Given the description of an element on the screen output the (x, y) to click on. 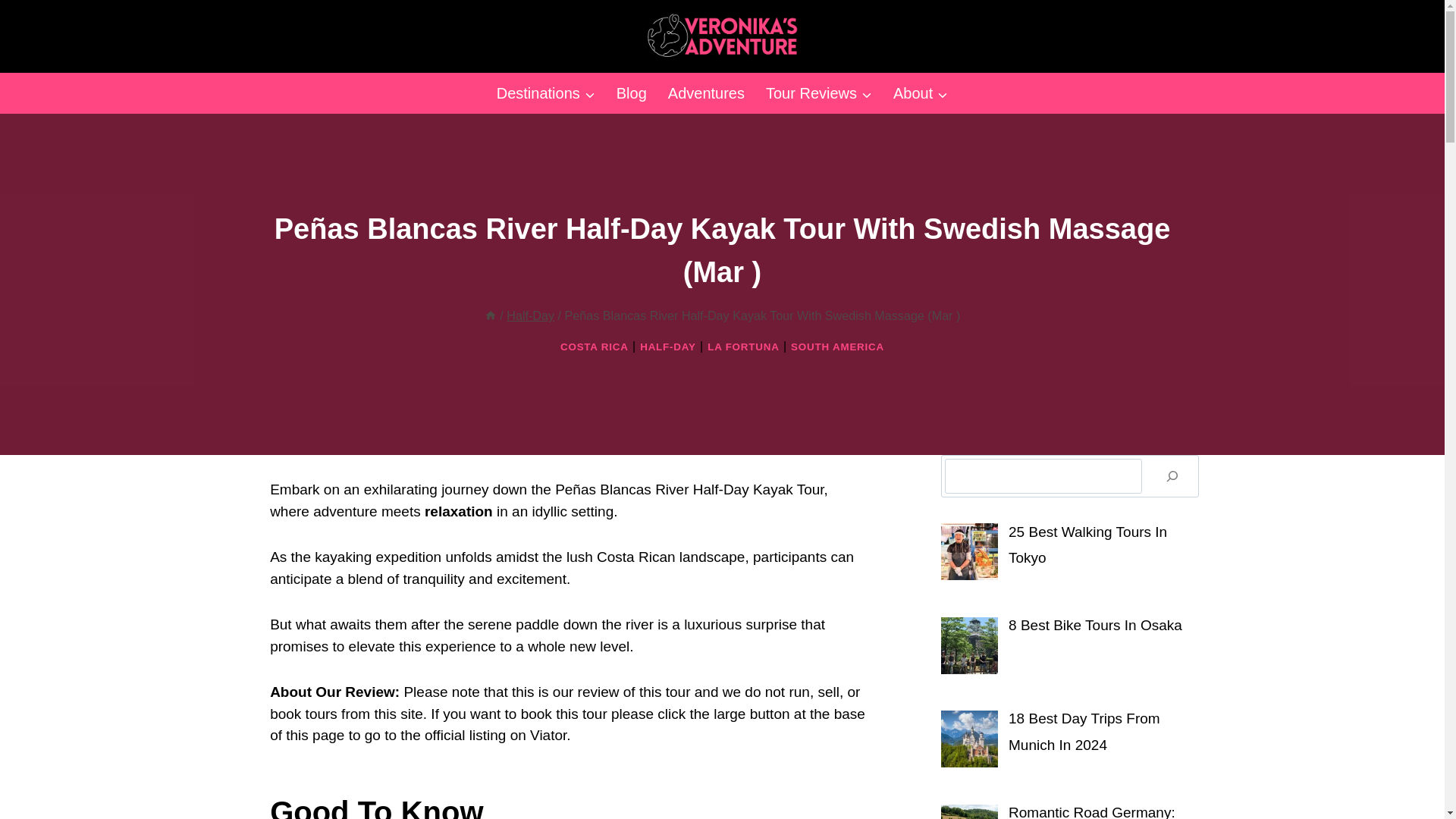
Tour Reviews (818, 92)
LA FORTUNA (742, 346)
About (920, 92)
Blog (631, 92)
Half-Day (530, 315)
COSTA RICA (594, 346)
Adventures (706, 92)
Destinations (545, 92)
HALF-DAY (667, 346)
Home (490, 315)
